Given the description of an element on the screen output the (x, y) to click on. 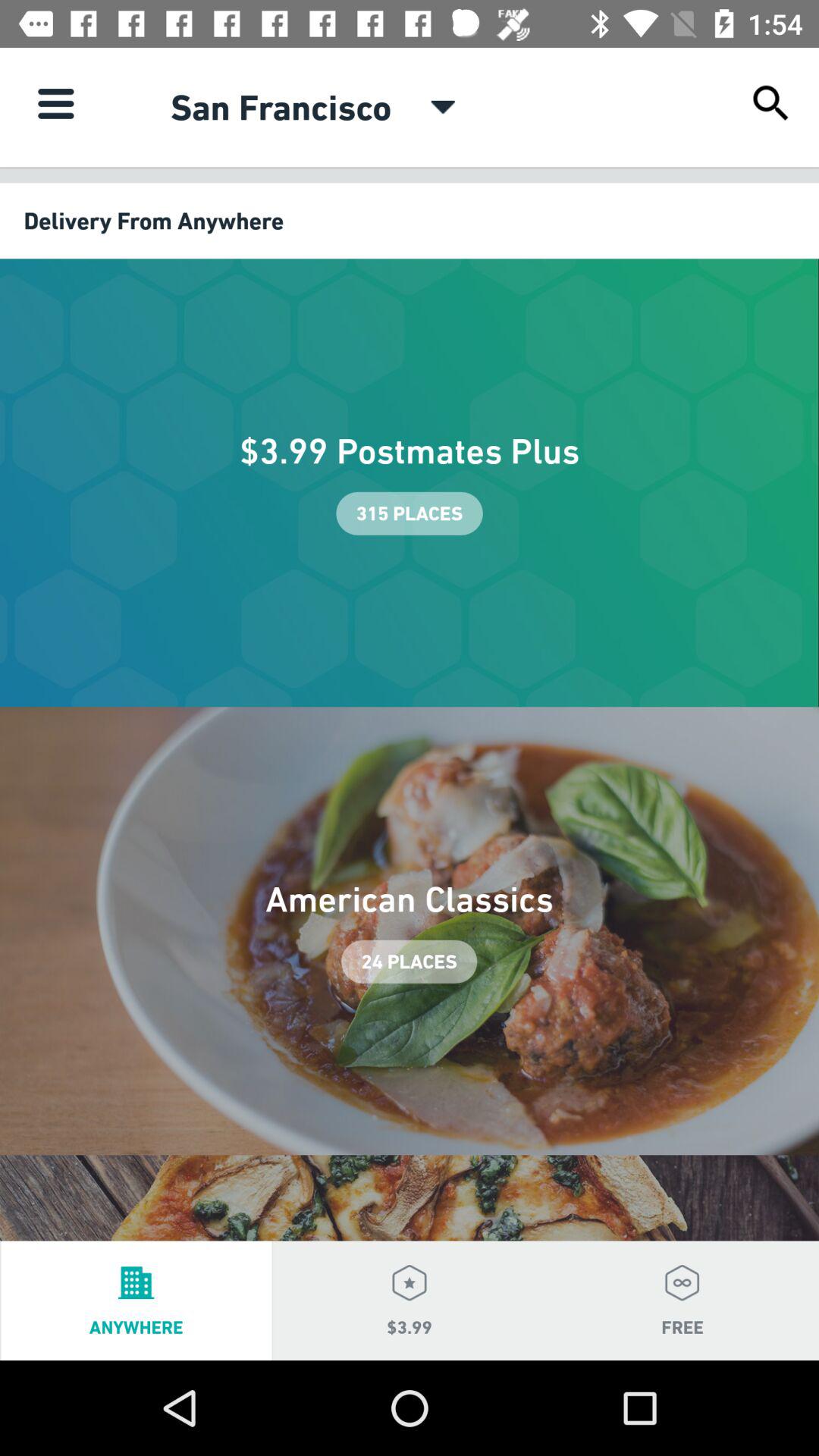
turn off the item to the right of san francisco (442, 107)
